Given the description of an element on the screen output the (x, y) to click on. 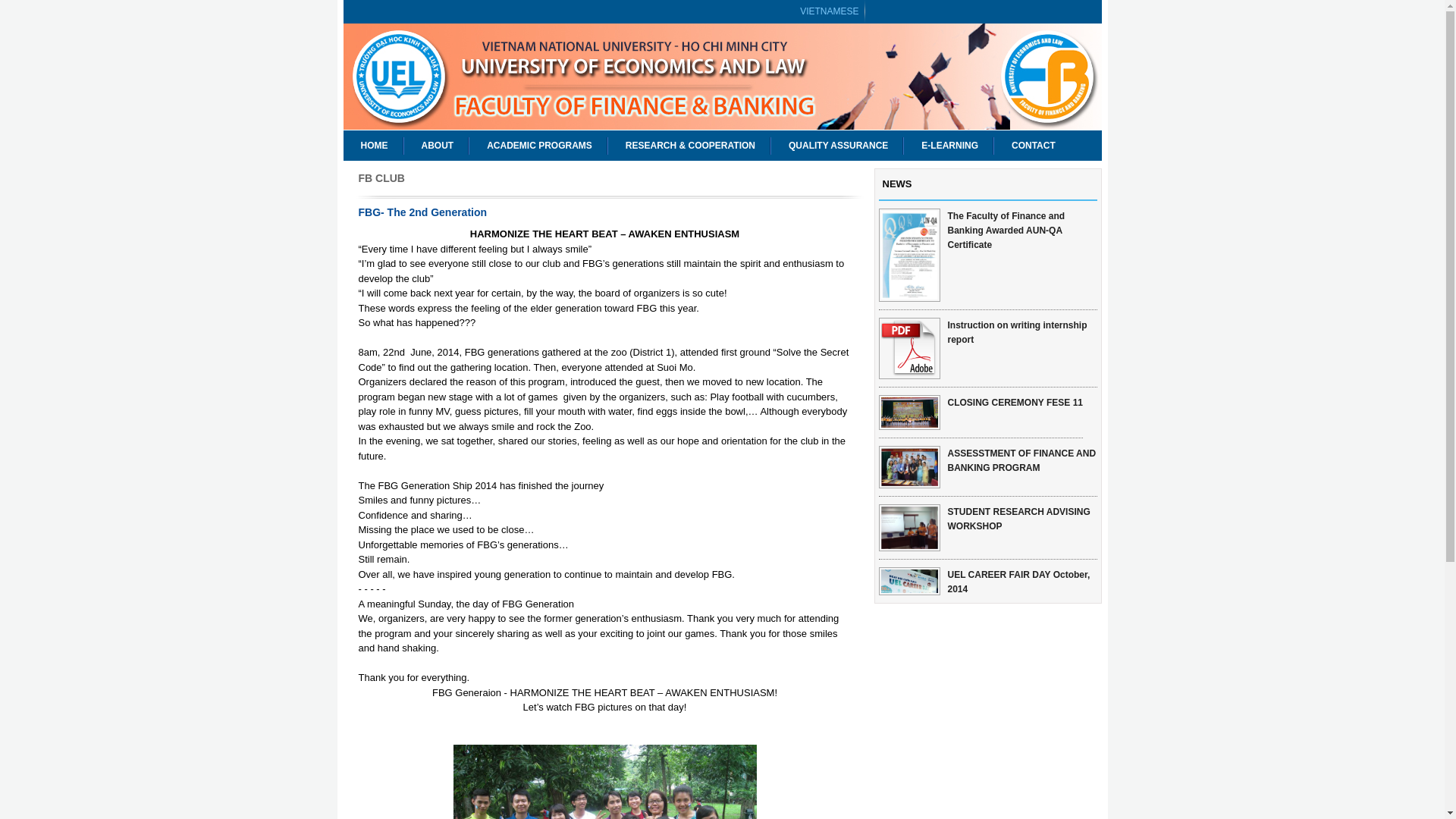
VIETNAMESE (829, 11)
ABOUT (435, 145)
ACADEMIC PROGRAMS (538, 145)
QUALITY ASSURANCE (837, 145)
HOME (372, 145)
